Given the description of an element on the screen output the (x, y) to click on. 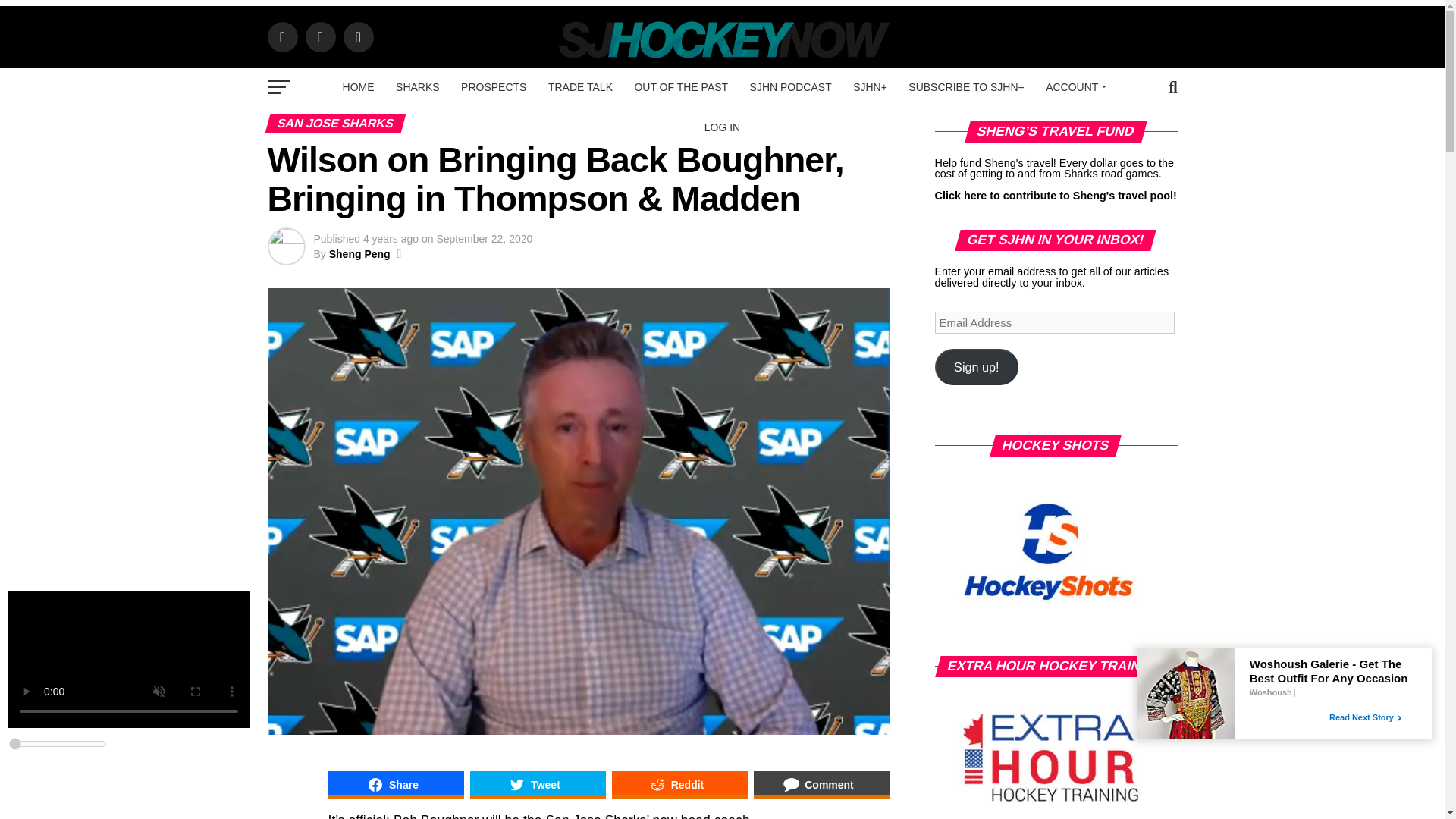
HOME (358, 86)
Share on Share (395, 784)
Share on Comment (821, 784)
Posts by Sheng Peng (359, 254)
PROSPECTS (493, 86)
TRADE TALK (579, 86)
SHARKS (417, 86)
Share on Tweet (537, 784)
Share on Reddit (678, 784)
